Given the description of an element on the screen output the (x, y) to click on. 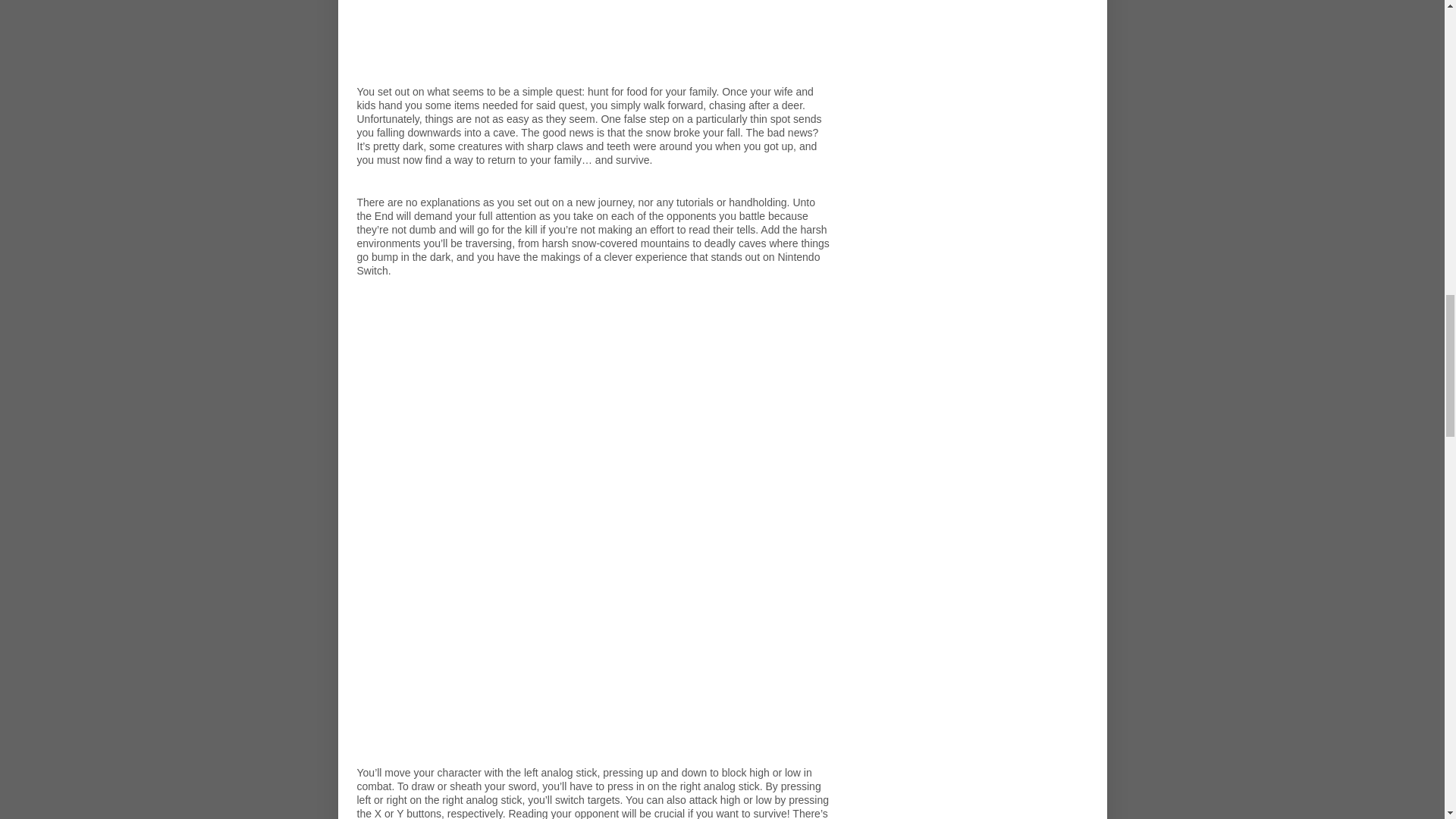
Pin It (640, 785)
